Given the description of an element on the screen output the (x, y) to click on. 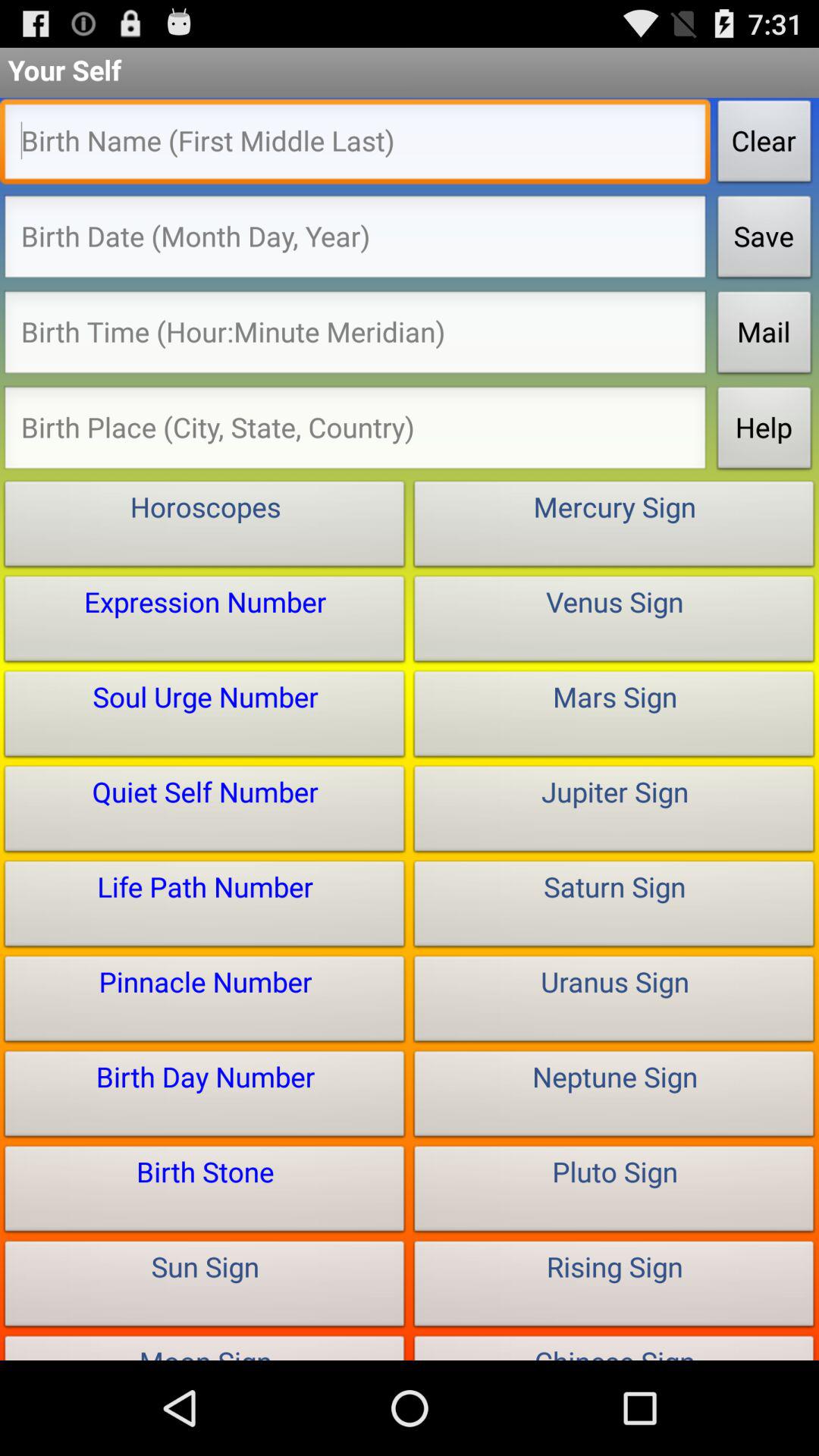
birth place (355, 432)
